Given the description of an element on the screen output the (x, y) to click on. 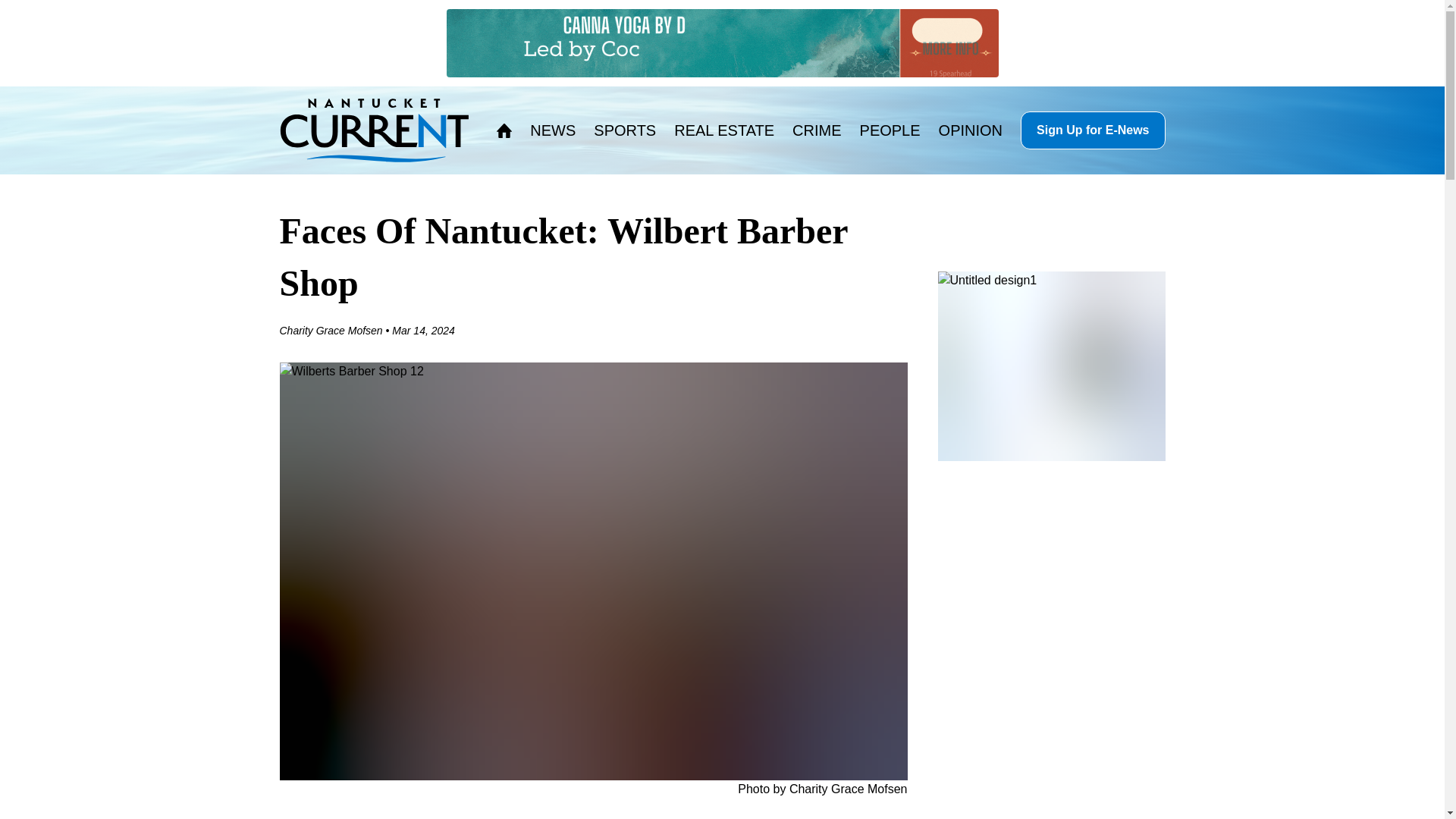
Sign Up for E-News (1092, 130)
CRIME (816, 129)
Ack Yoga (721, 42)
SPORTS (625, 129)
REAL ESTATE (724, 129)
OPINION (971, 129)
NEWS (552, 129)
Nantucket Current Home Page (373, 130)
PEOPLE (890, 129)
